Given the description of an element on the screen output the (x, y) to click on. 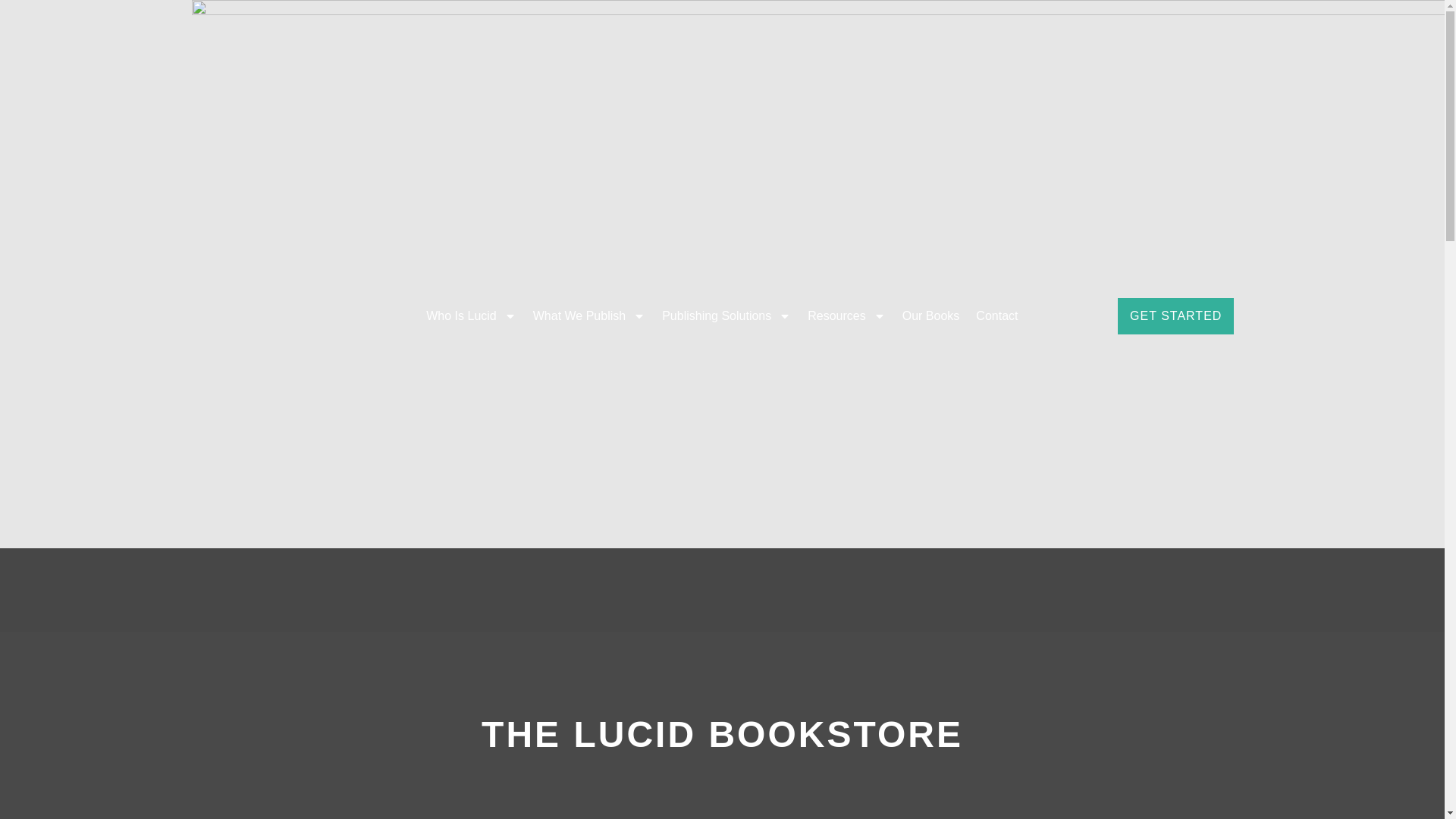
Who Is Lucid (470, 315)
What We Publish (588, 315)
Resources (846, 315)
Contact (997, 315)
Our Books (930, 315)
Publishing Solutions (726, 315)
